Given the description of an element on the screen output the (x, y) to click on. 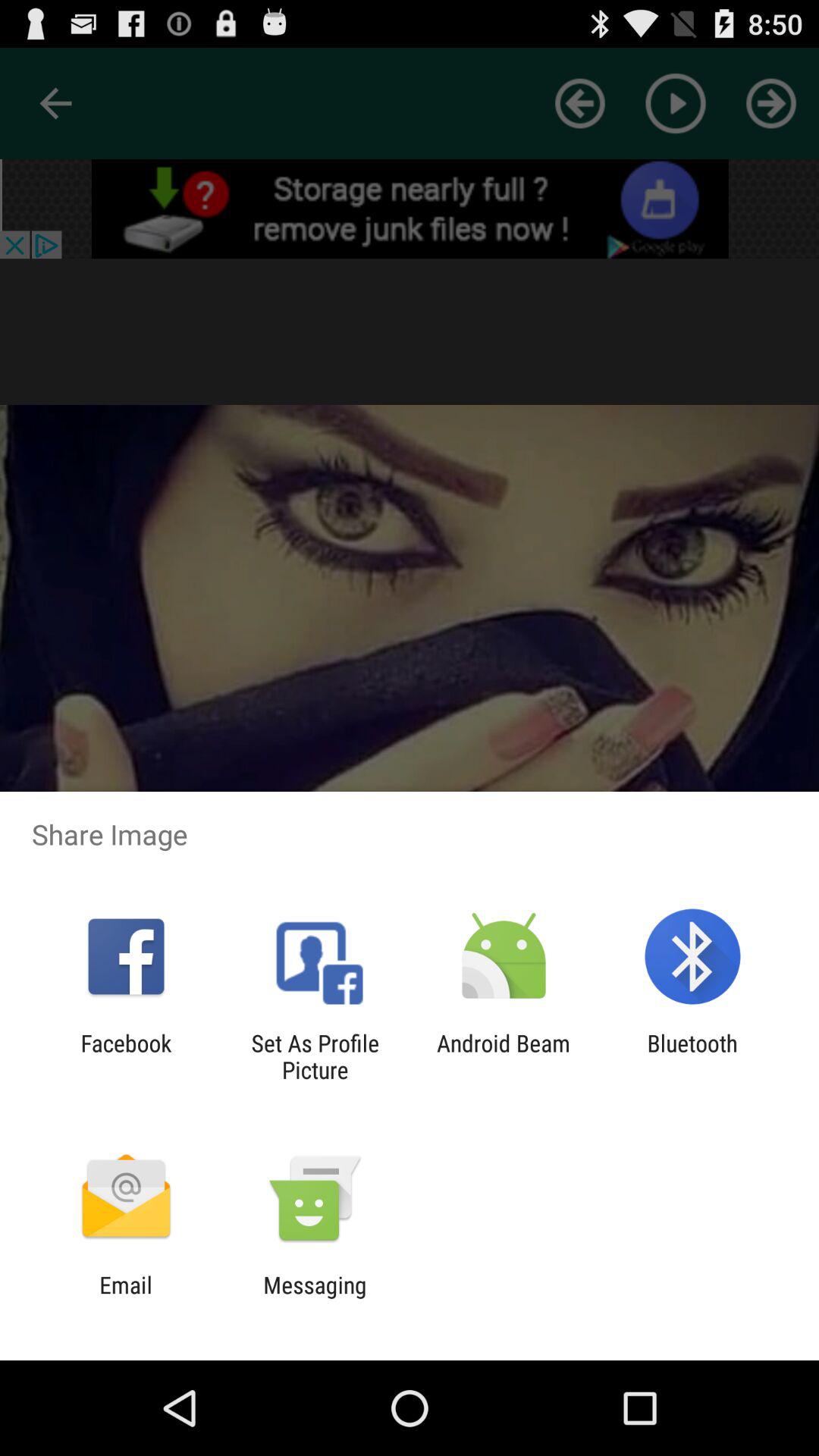
flip to set as profile app (314, 1056)
